Given the description of an element on the screen output the (x, y) to click on. 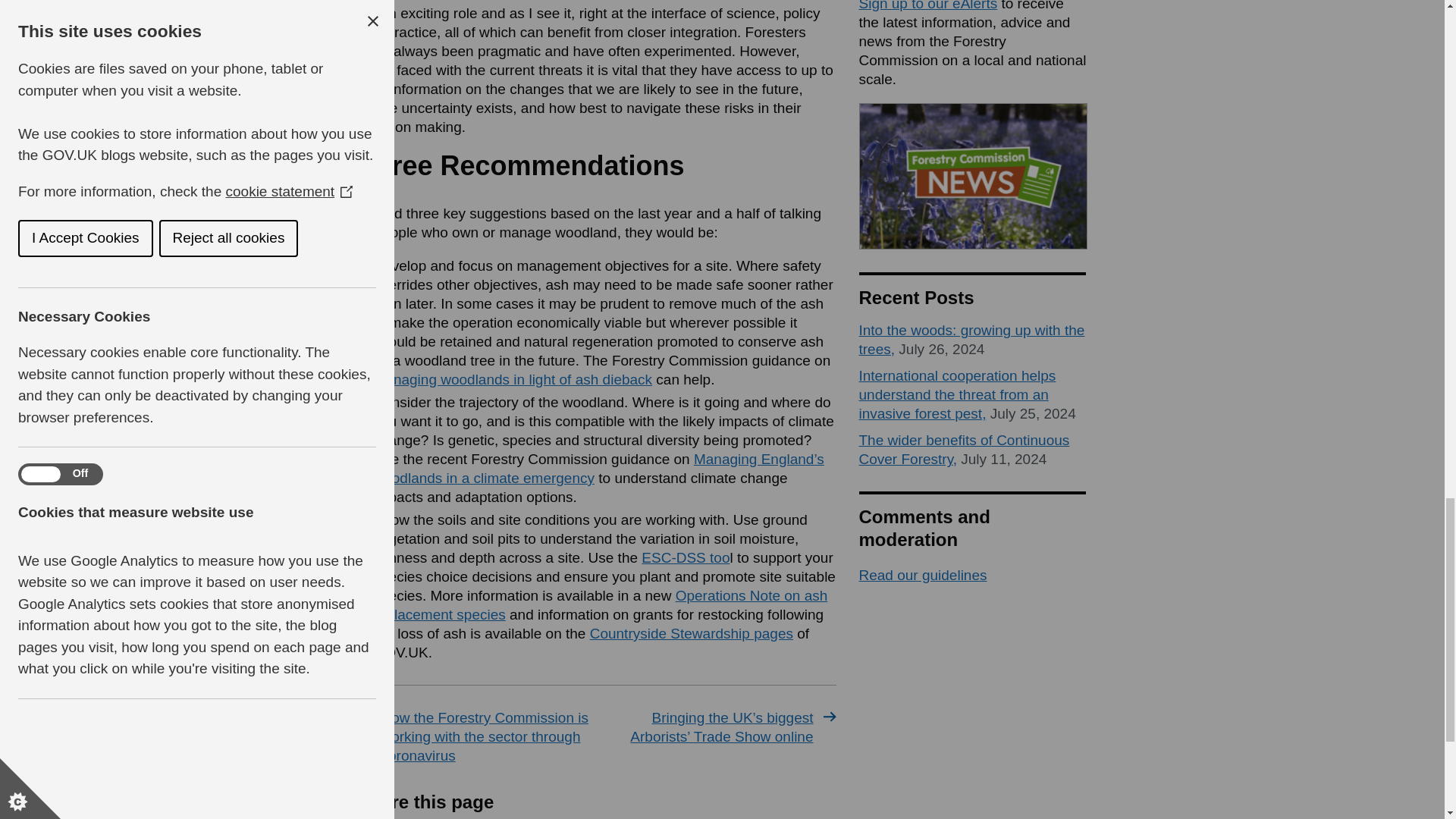
Sign up to our eAlerts (928, 5)
Operations Note on ash replacement species (599, 605)
ESC-DSS too (685, 557)
Countryside Stewardship pages (691, 633)
Into the woods: growing up with the trees (971, 339)
Managing woodlands in light of ash dieback (512, 379)
